Given the description of an element on the screen output the (x, y) to click on. 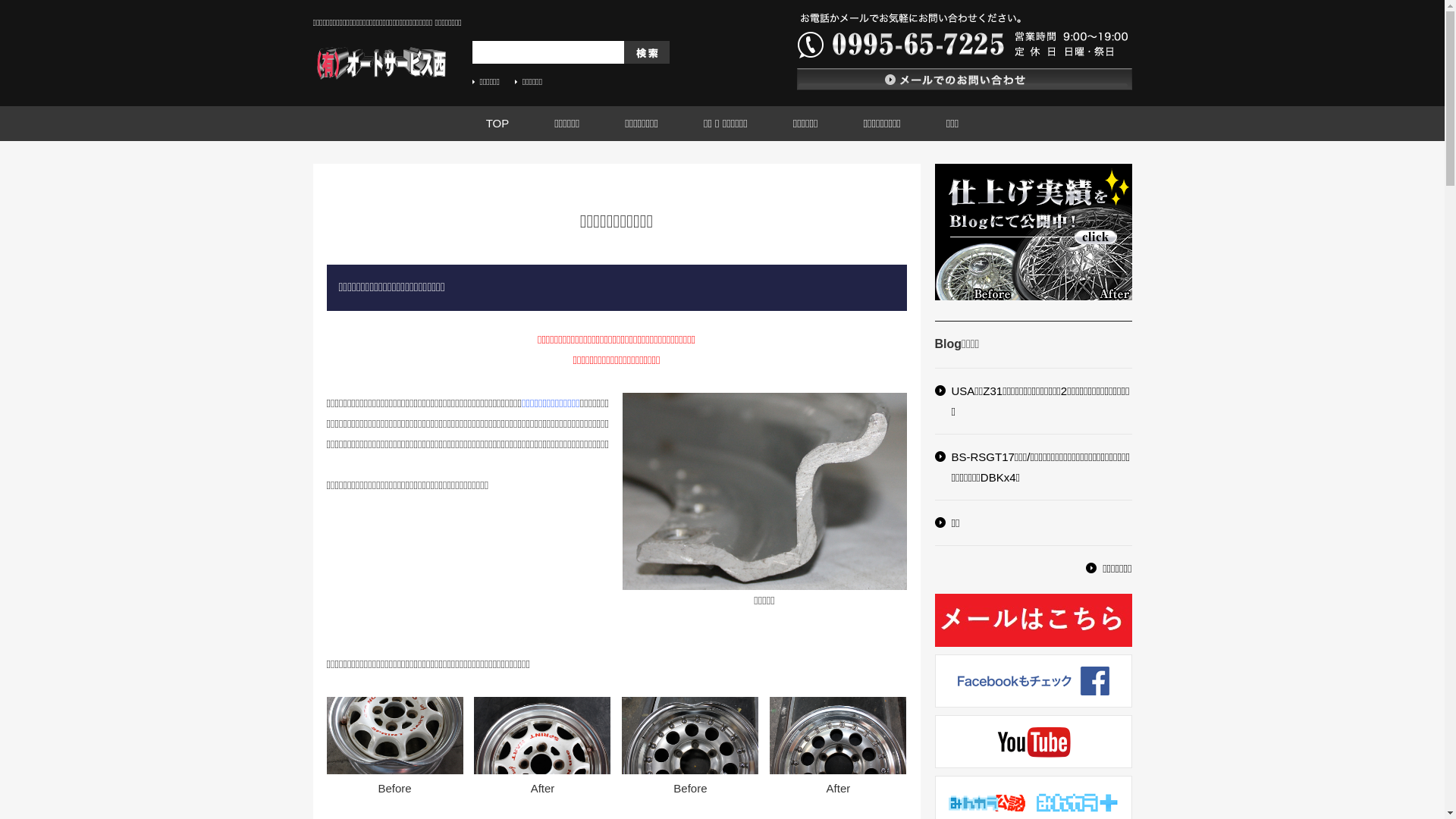
TOP Element type: text (497, 123)
